Given the description of an element on the screen output the (x, y) to click on. 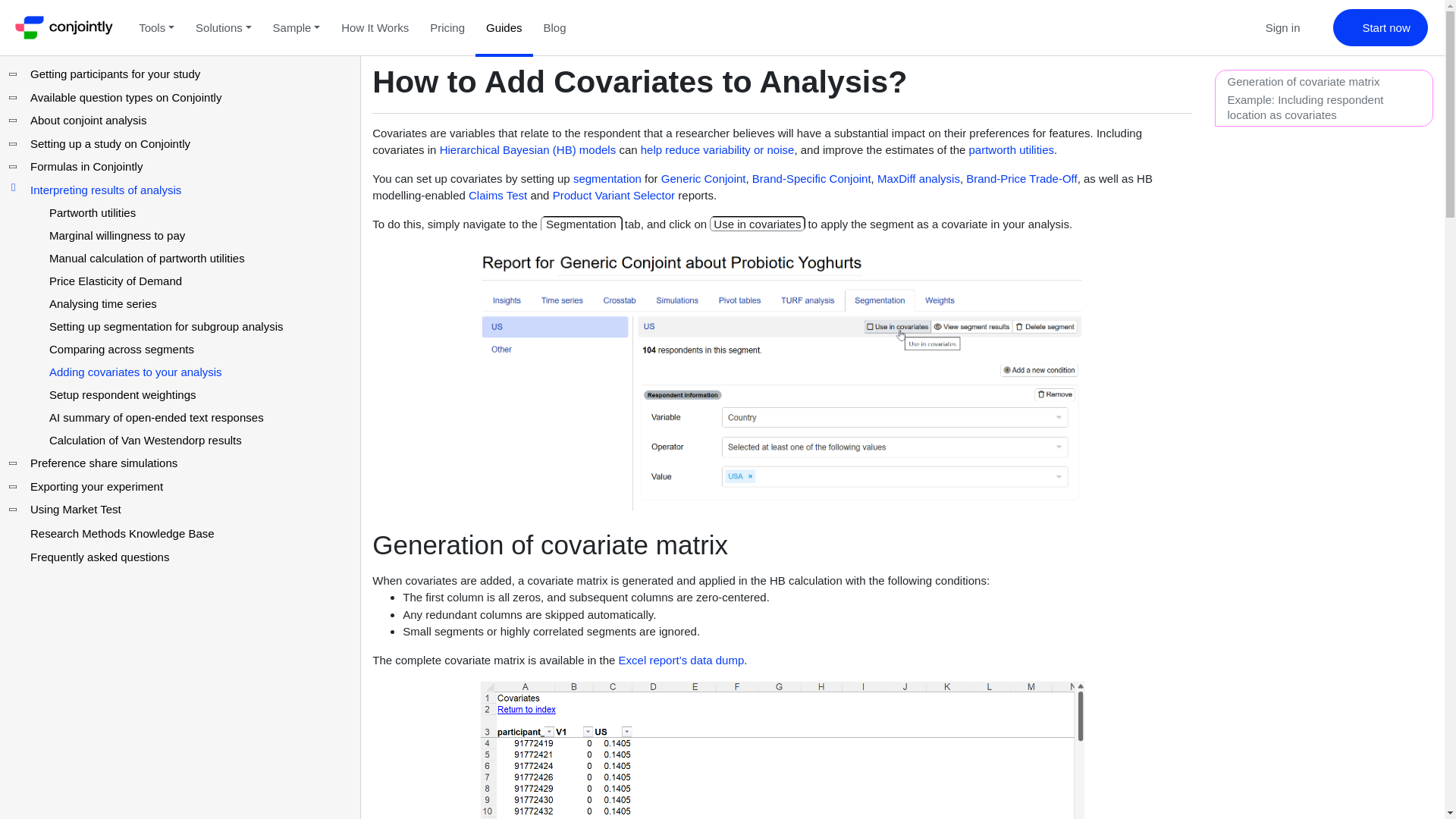
Search Conjointly website (1225, 27)
Excel example of covariate matrix (782, 749)
Tools (156, 27)
